Given the description of an element on the screen output the (x, y) to click on. 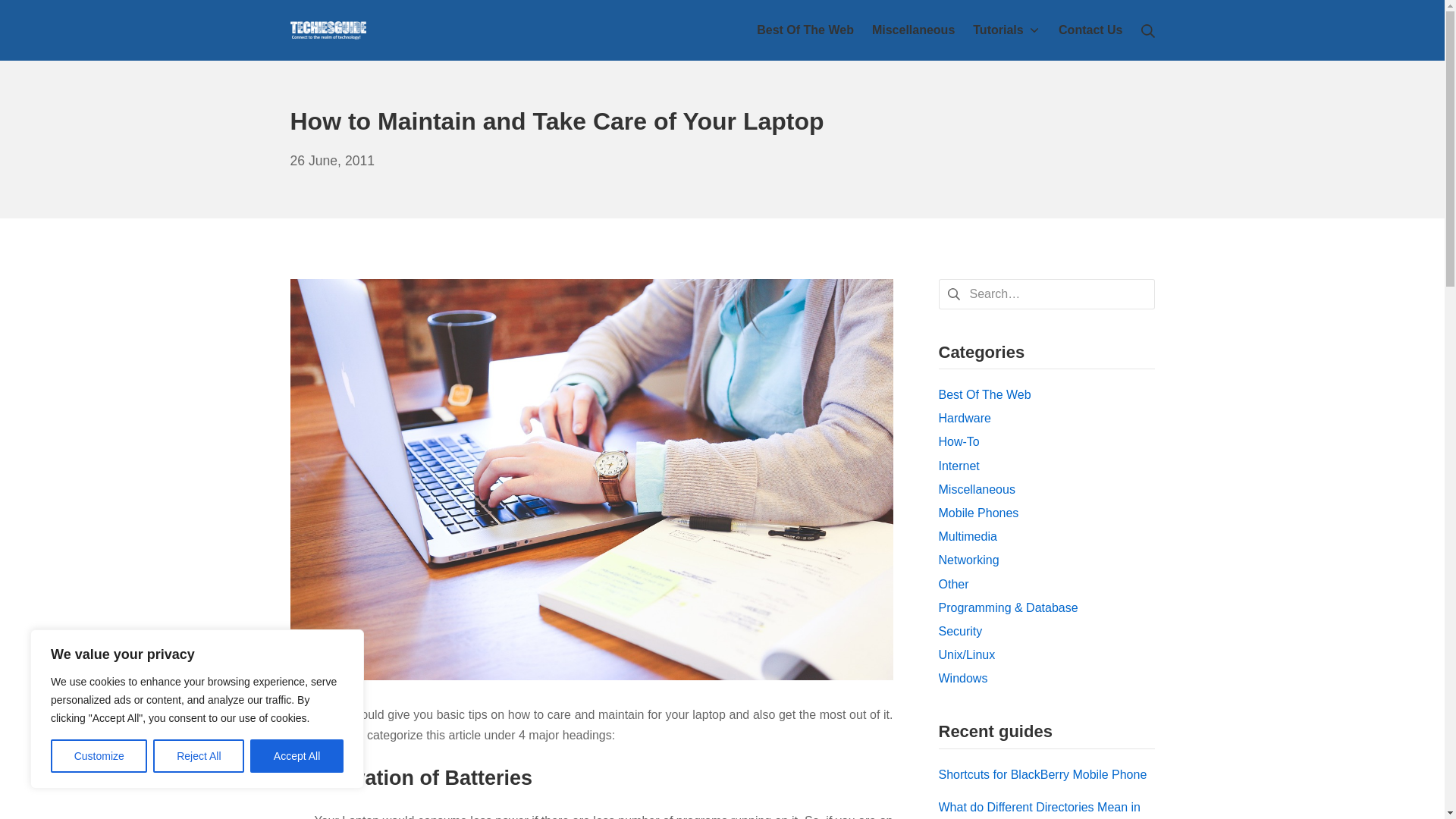
Customize (98, 756)
Miscellaneous (913, 29)
Best Of The Web (805, 29)
Reject All (198, 756)
Techies Guide (327, 29)
Tutorials (1006, 29)
Accept All (296, 756)
